Given the description of an element on the screen output the (x, y) to click on. 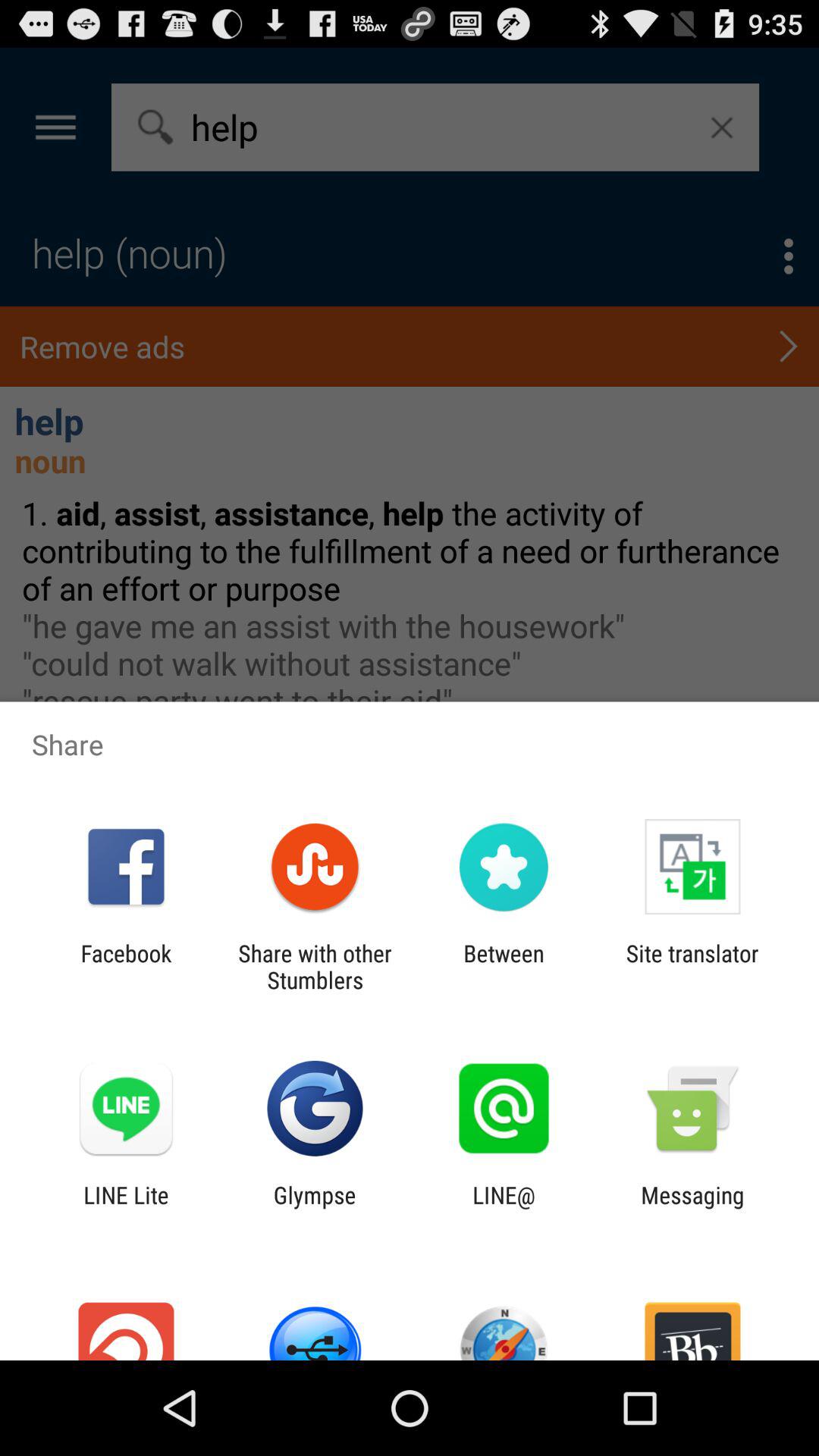
click item to the right of line@ item (692, 1208)
